Given the description of an element on the screen output the (x, y) to click on. 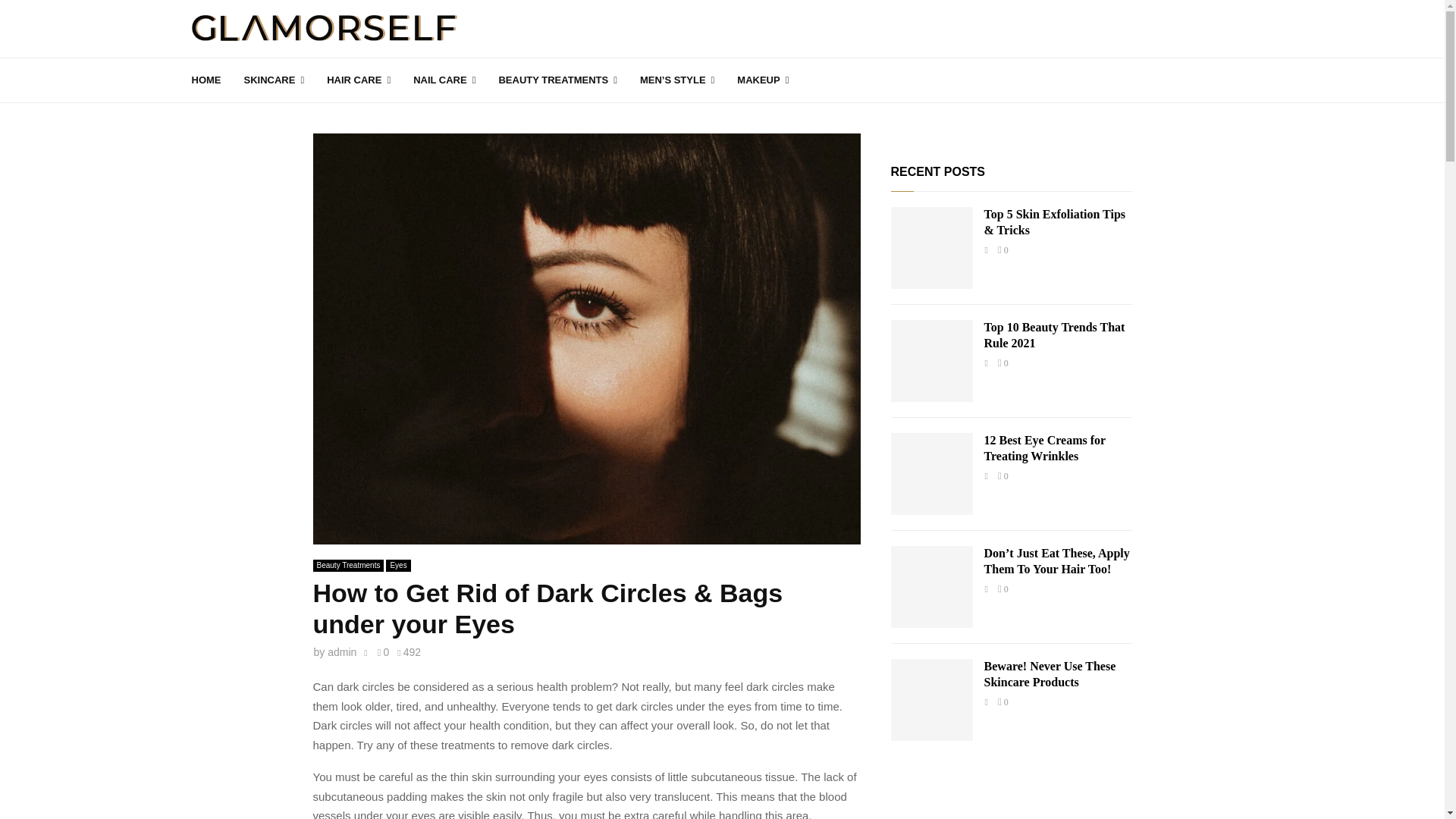
Beware! Never Use These Skincare Products (931, 700)
MAKEUP (762, 80)
 12 Best Eye Creams for Treating Wrinkles  (1044, 448)
 Beware! Never Use These Skincare Products  (1050, 674)
HAIR CARE (358, 80)
NAIL CARE (444, 80)
12 Best Eye Creams for Treating Wrinkles (931, 474)
Top 10 Beauty Trends That Rule 2021 (931, 361)
3rd party ad content (1011, 795)
 Top 10 Beauty Trends That Rule 2021  (1054, 335)
BEAUTY TREATMENTS (556, 80)
SKINCARE (274, 80)
